Given the description of an element on the screen output the (x, y) to click on. 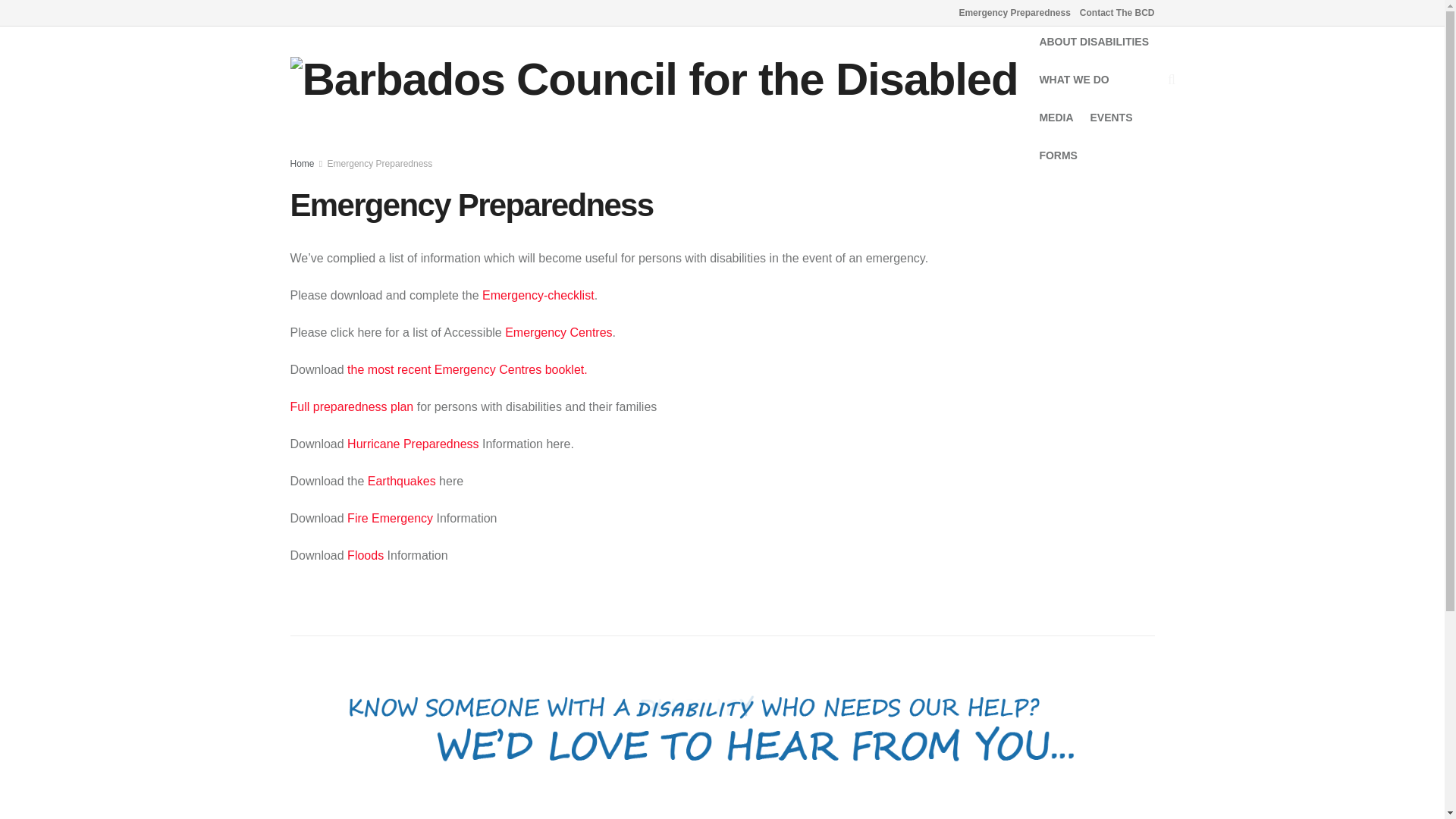
Emergency Preparedness (1014, 12)
EVENTS (1111, 117)
FORMS (1058, 155)
HOME (1054, 7)
MEDIA (1056, 117)
ABOUT US (1114, 7)
ABOUT DISABILITIES (1093, 41)
WHAT WE DO (1073, 79)
Contact The BCD (1117, 12)
